Given the description of an element on the screen output the (x, y) to click on. 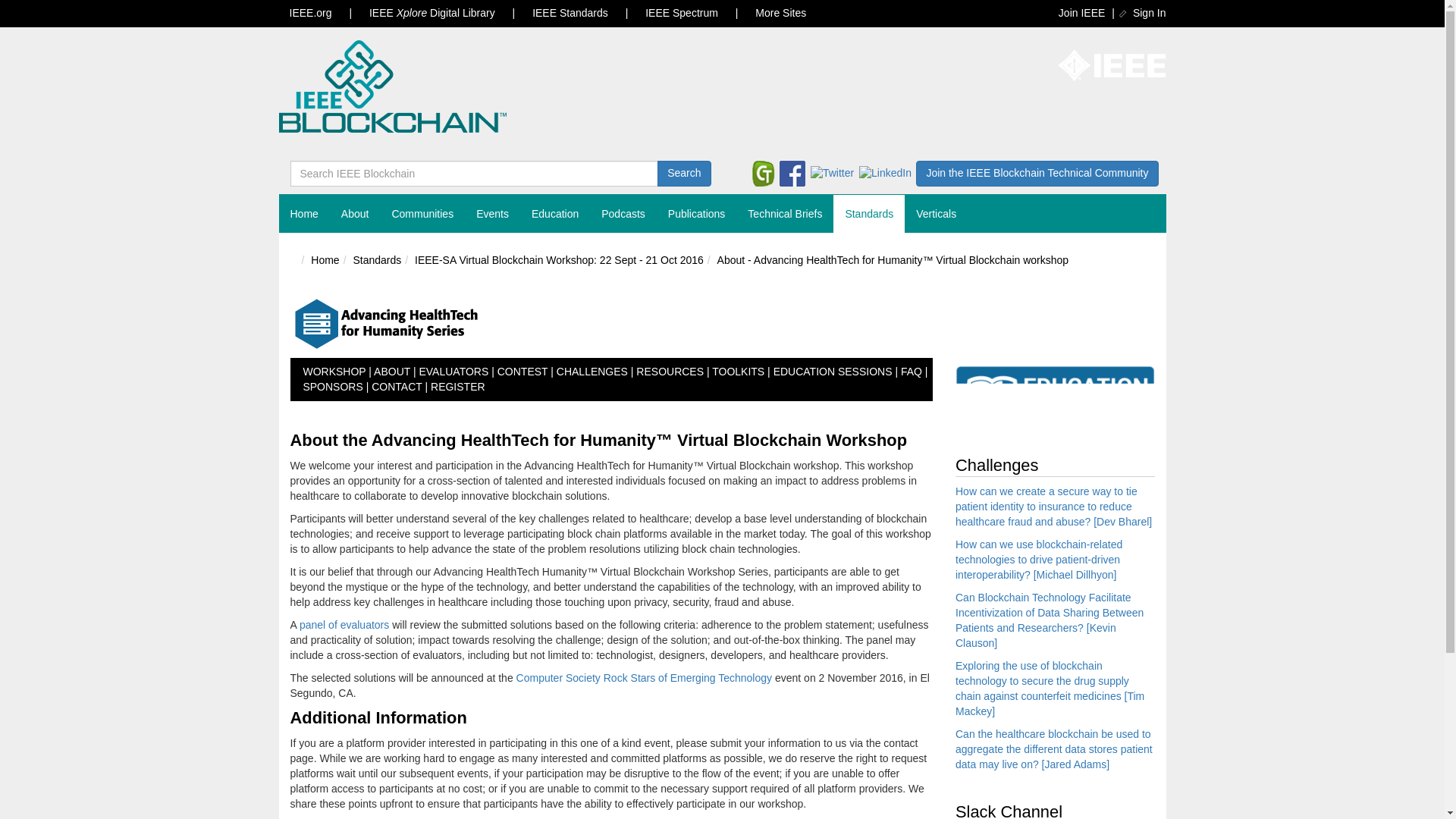
IEEE Xplore Digital Library (431, 13)
IEEE Spectrum (681, 13)
IEEE.org (310, 13)
Join IEEE (1081, 12)
Home (304, 213)
IEEE Standards (569, 13)
Facebook (791, 173)
About (355, 213)
More Sites (780, 13)
Communities (422, 213)
